Given the description of an element on the screen output the (x, y) to click on. 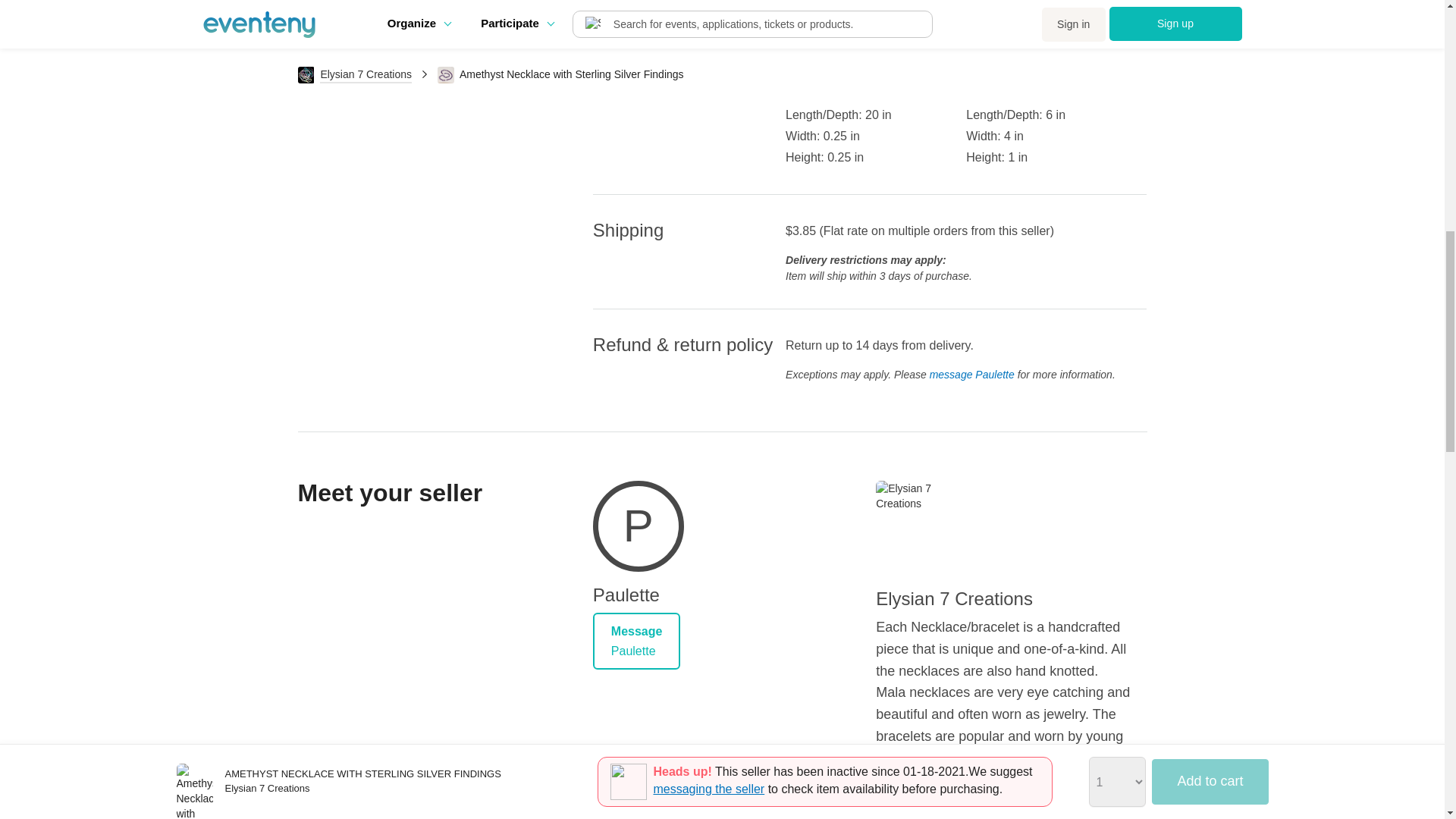
Learn more about Elysian 7 Creations (921, 525)
Learn more about Paulette (638, 529)
